Given the description of an element on the screen output the (x, y) to click on. 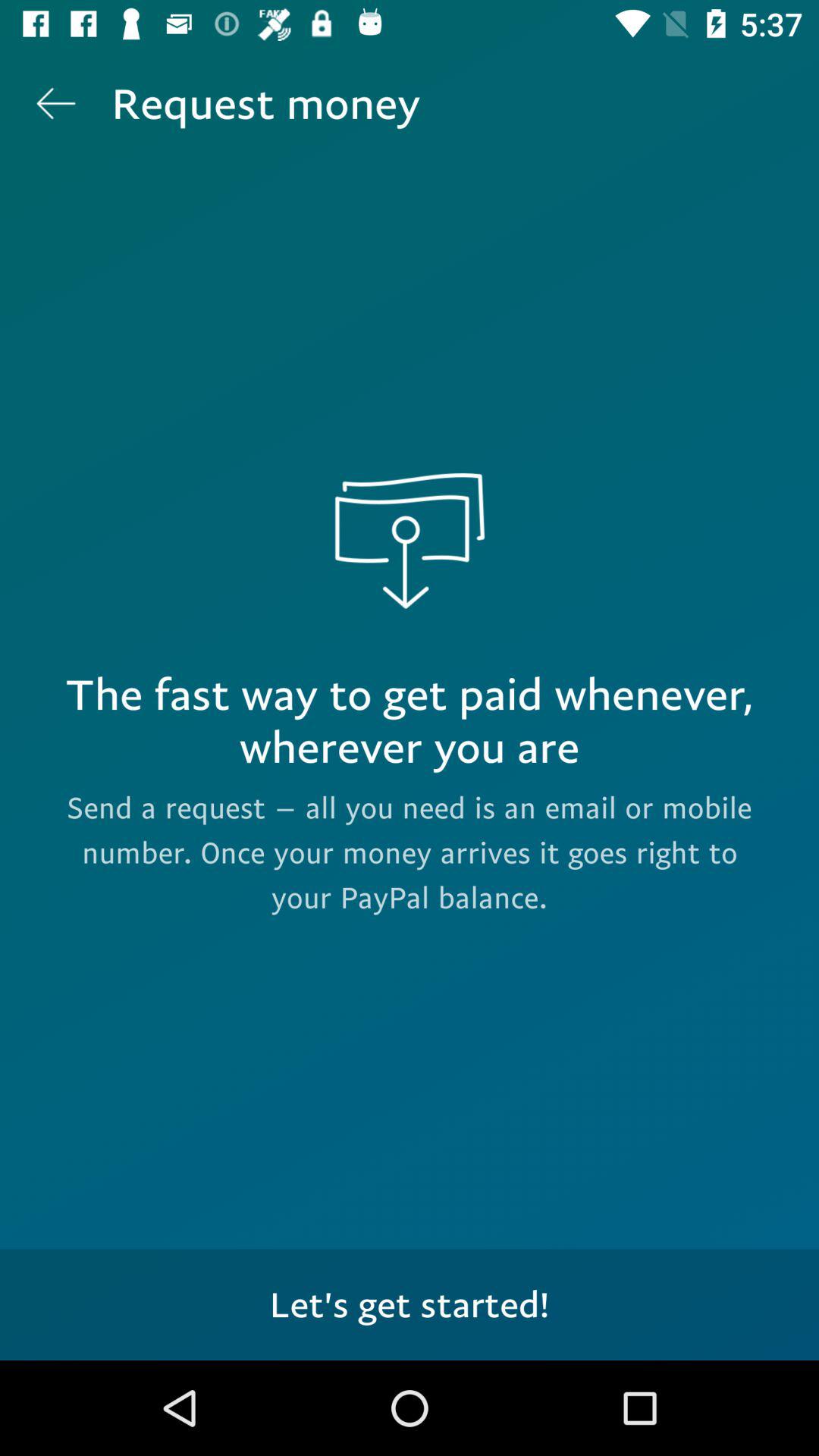
press item next to request money (55, 103)
